Given the description of an element on the screen output the (x, y) to click on. 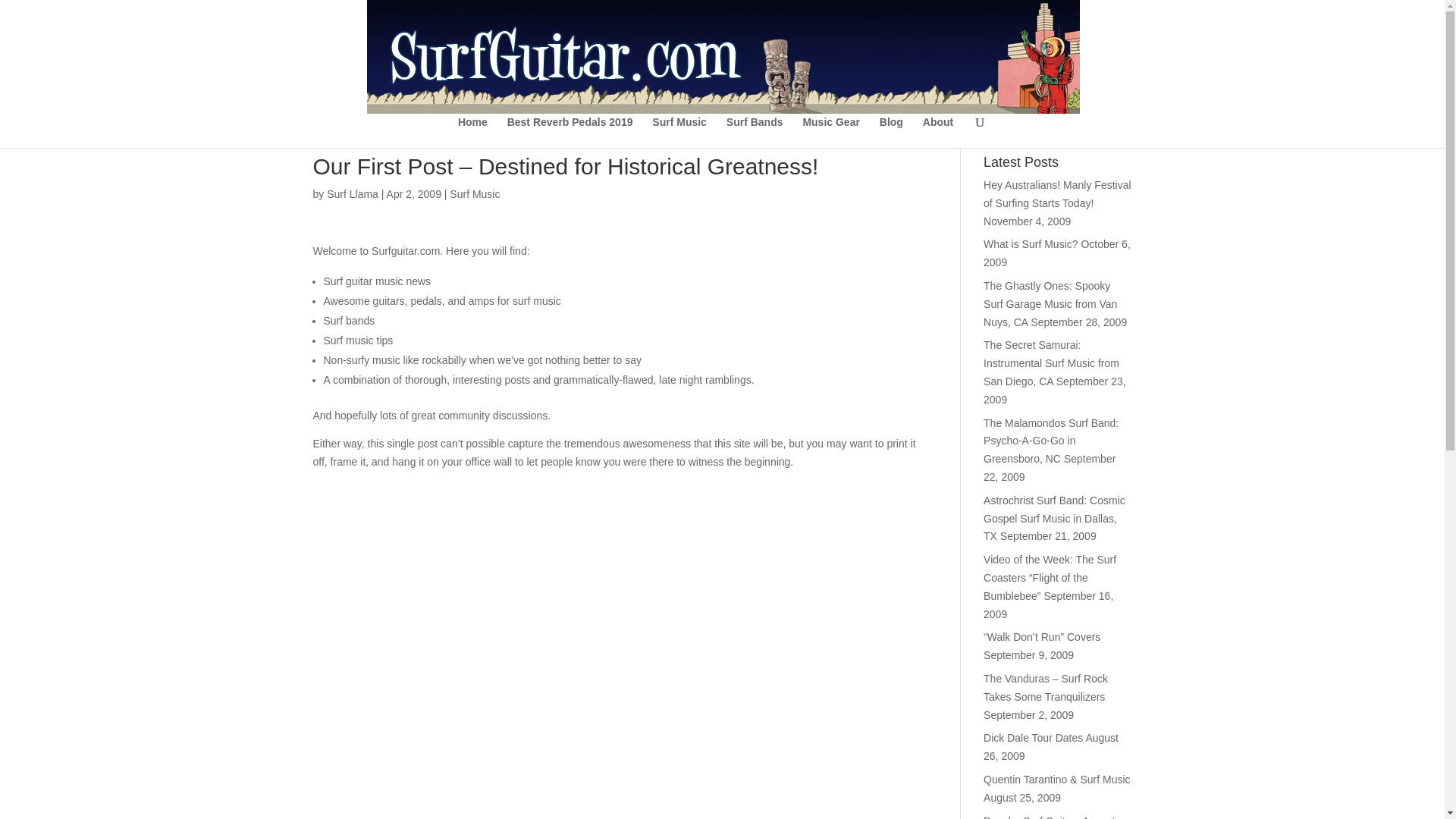
Best Reverb Pedals 2019 (569, 132)
The Ghastly Ones: Spooky Surf Garage Music from Van Nuys, CA (1050, 304)
Music Gear (830, 132)
Hey Australians! Manly Festival of Surfing Starts Today! (1057, 194)
Surf Llama (352, 193)
What is Surf Music? (1030, 244)
About (938, 132)
Home (472, 132)
Surf Music (474, 193)
The Malamondos Surf Band: Psycho-A-Go-Go in Greensboro, NC (1051, 441)
Posts by Surf Llama (352, 193)
Dick Dale Tour Dates (1033, 737)
Surf Bands (754, 132)
